Given the description of an element on the screen output the (x, y) to click on. 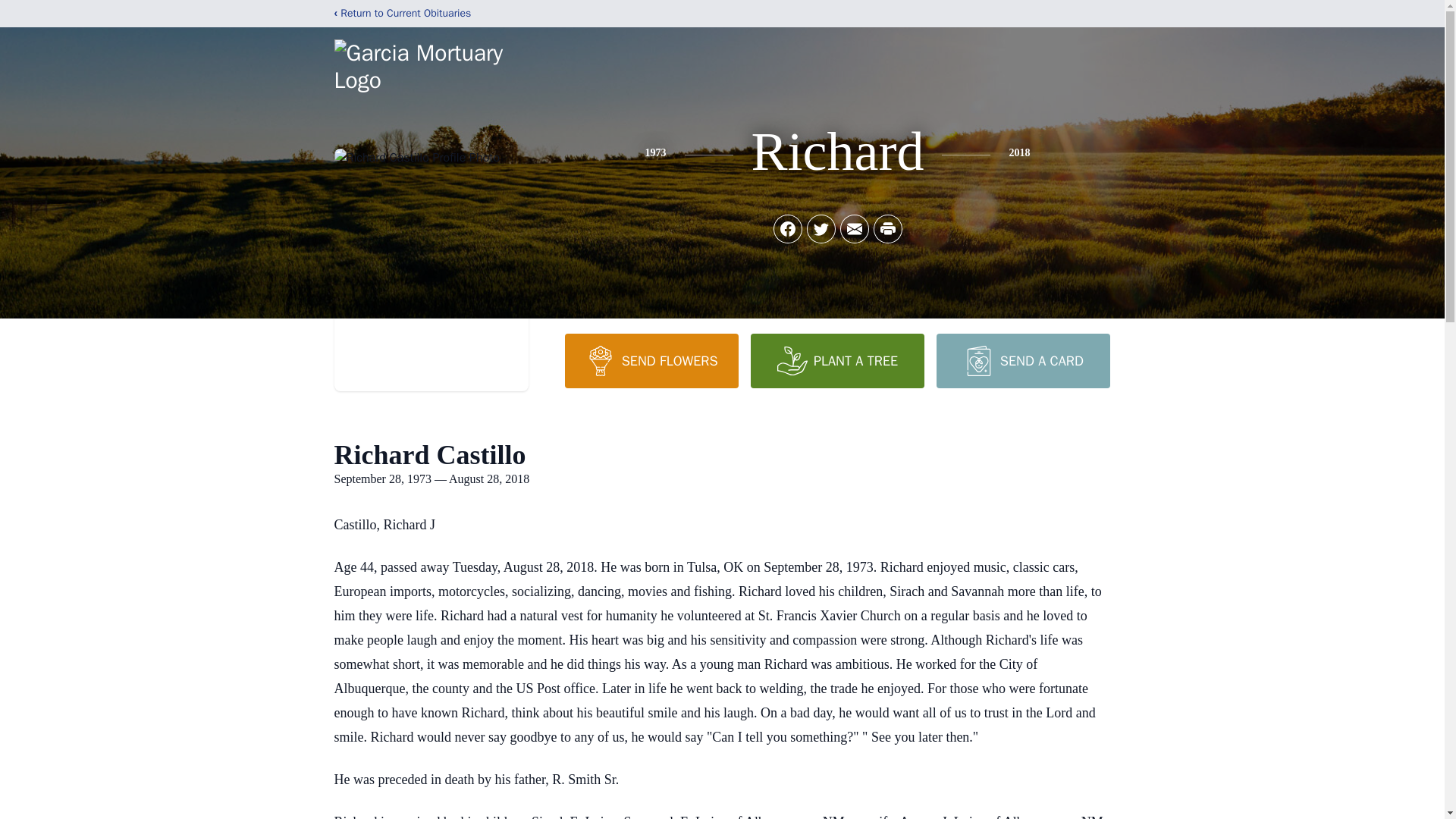
SEND FLOWERS (651, 360)
SEND A CARD (1022, 360)
PLANT A TREE (837, 360)
